Given the description of an element on the screen output the (x, y) to click on. 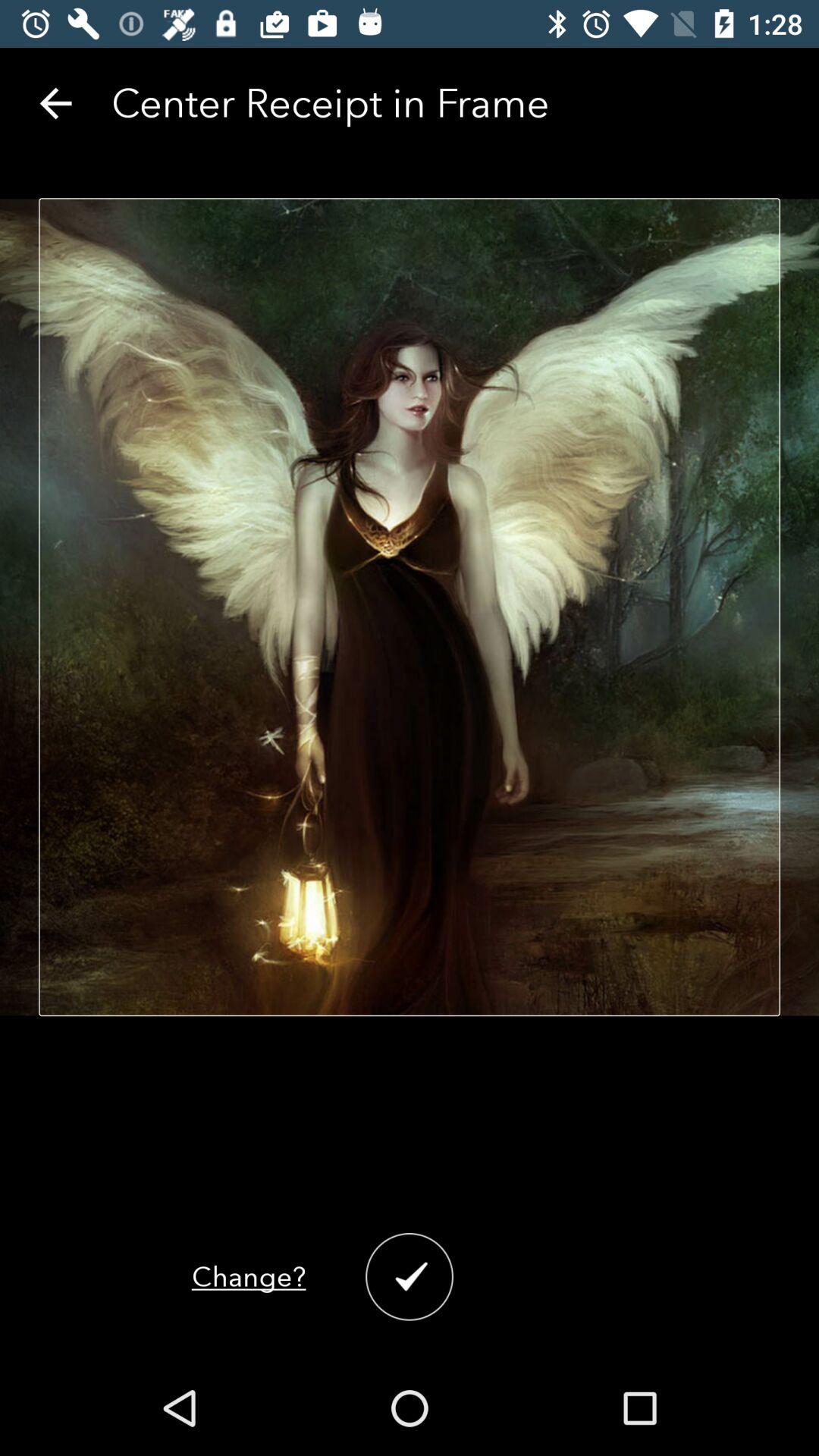
launch the change? (248, 1276)
